Given the description of an element on the screen output the (x, y) to click on. 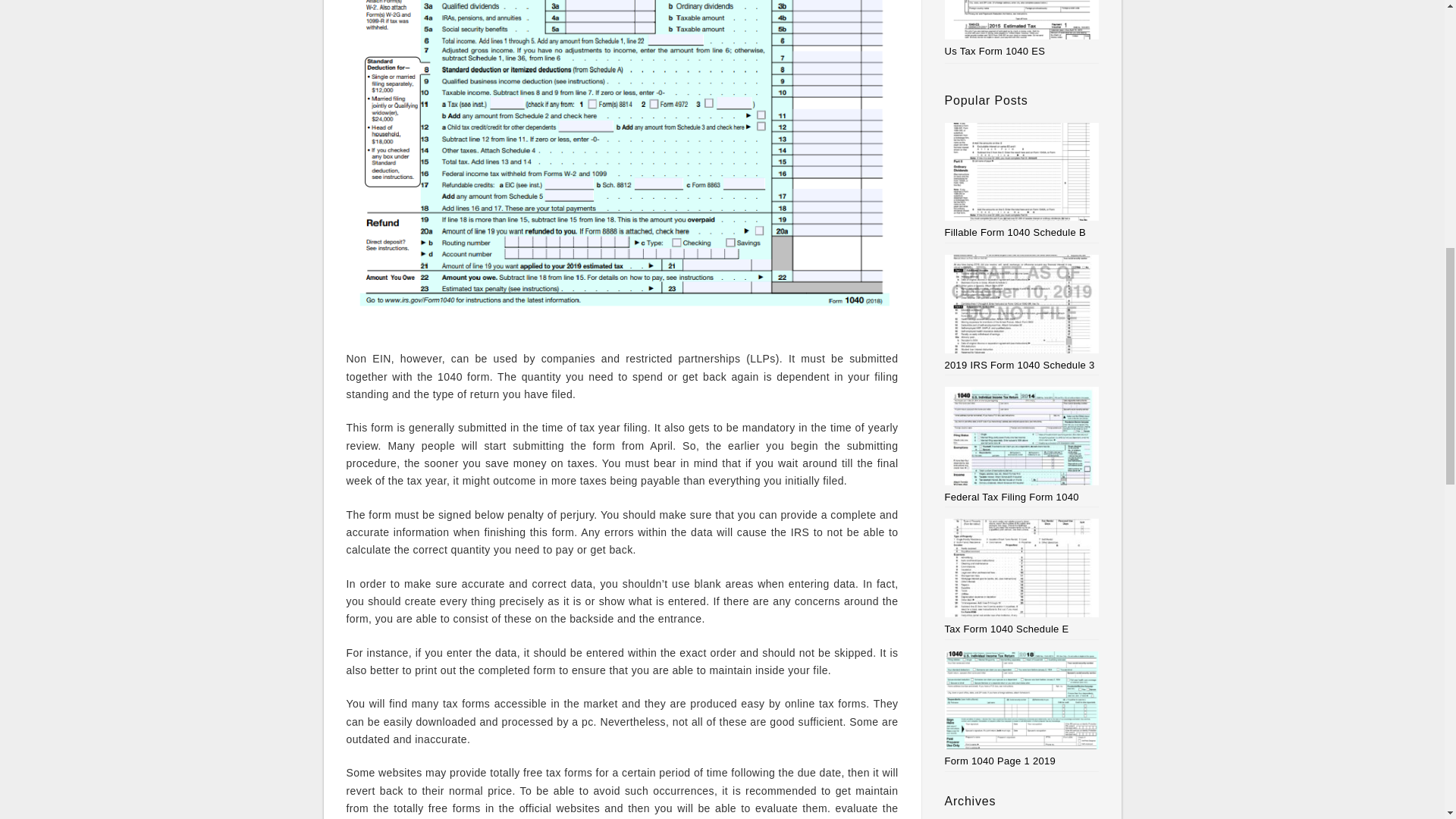
2019 IRS Form 1040 Schedule 3 (1021, 312)
Tax Form 1040 Schedule E (1021, 576)
Federal Tax Filing Form 1040 (1021, 444)
Us Tax Form 1040 ES (994, 50)
Form 1040 Page 1 2019 (1021, 709)
Fillable Form 1040 Schedule B (1021, 180)
Fillable Form 1040 Schedule B (1021, 180)
Us Tax Form 1040 ES (994, 50)
Federal Tax Filing Form 1040 (1021, 444)
2019 IRS Form 1040 Schedule 3 (1021, 312)
Tax Form 1040 Schedule E (1021, 576)
